Given the description of an element on the screen output the (x, y) to click on. 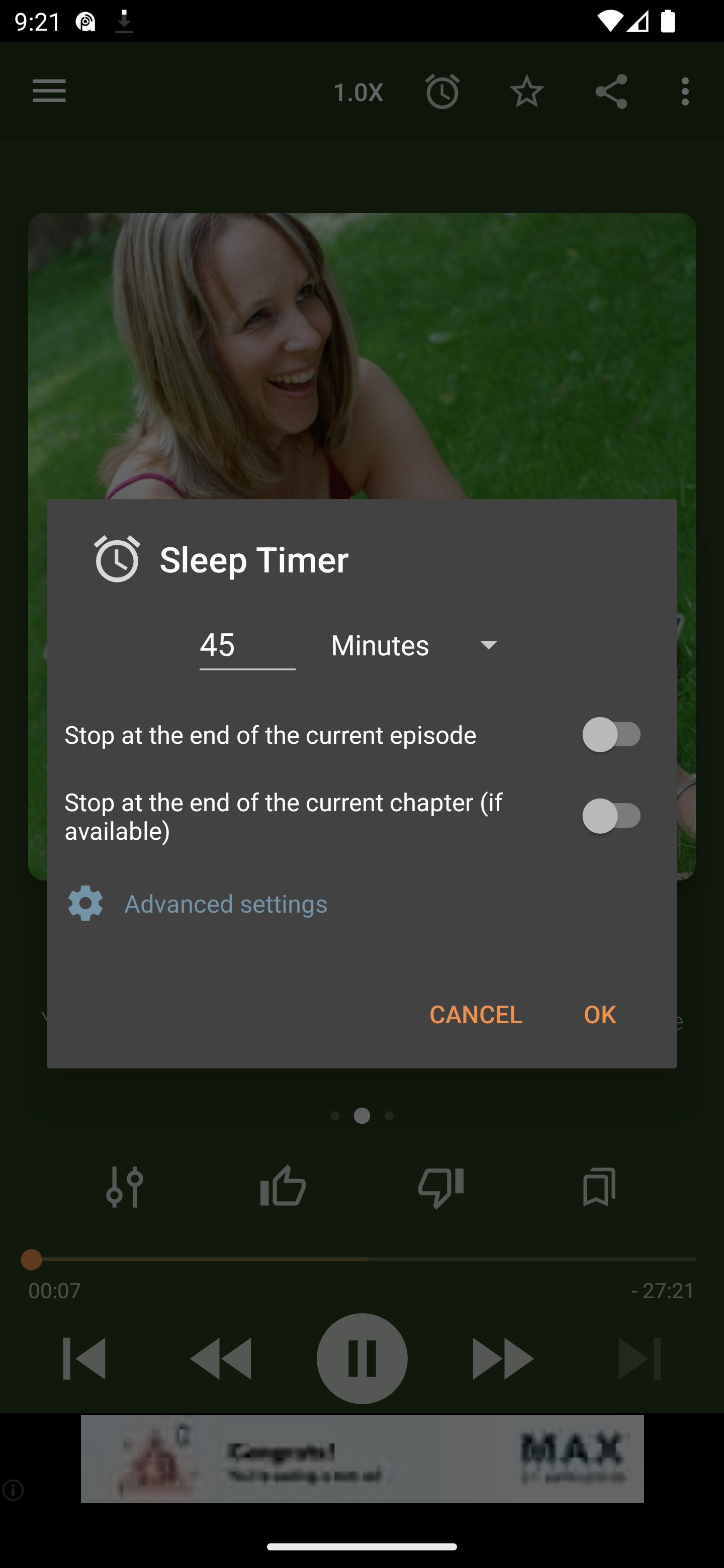
45 (247, 644)
Minutes (423, 643)
Stop at the end of the current episode (361, 734)
Advanced settings (391, 902)
CANCEL (475, 1013)
OK (599, 1013)
